Given the description of an element on the screen output the (x, y) to click on. 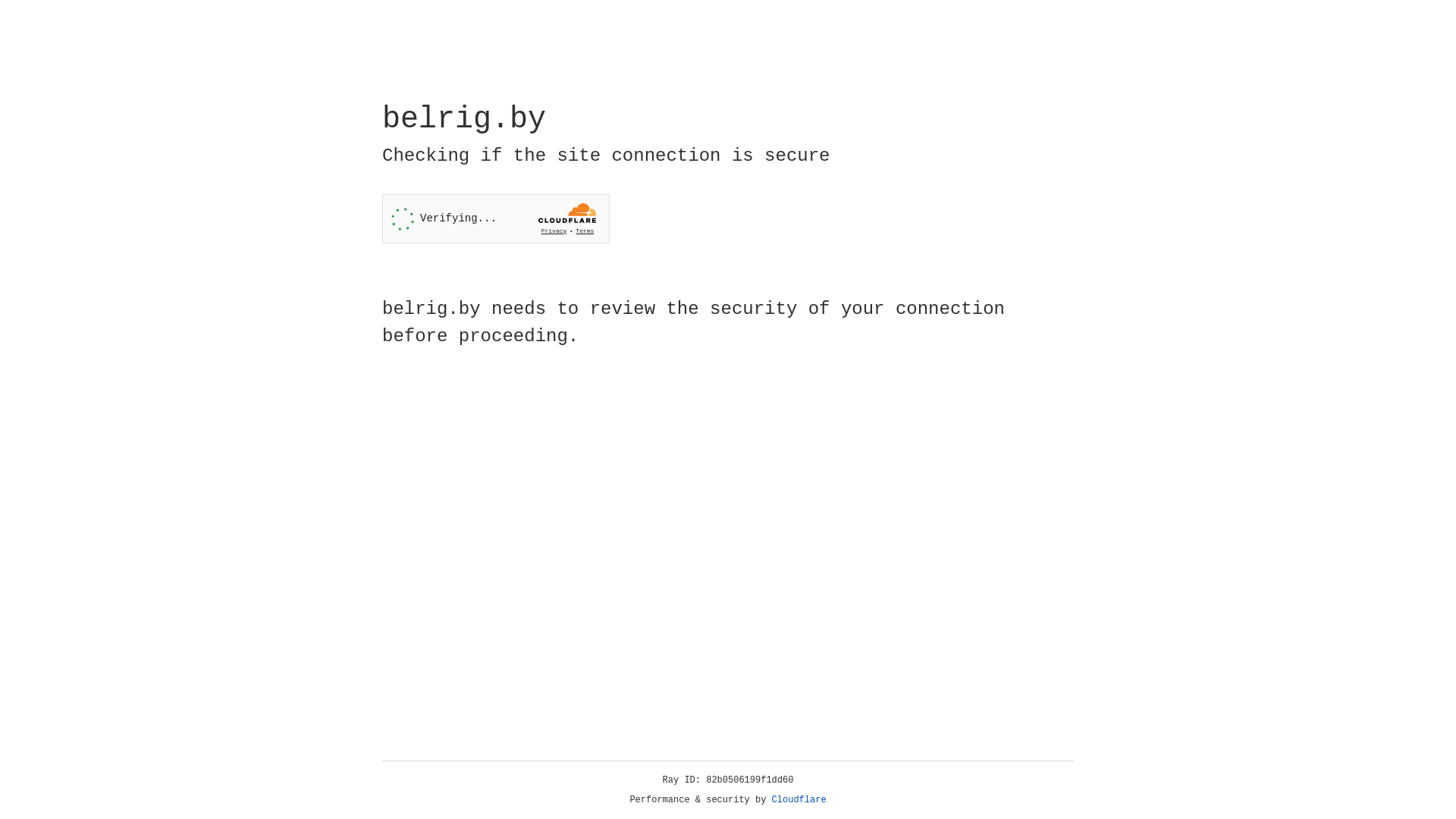
Cloudflare Element type: text (798, 799)
Widget containing a Cloudflare security challenge Element type: hover (495, 218)
